Given the description of an element on the screen output the (x, y) to click on. 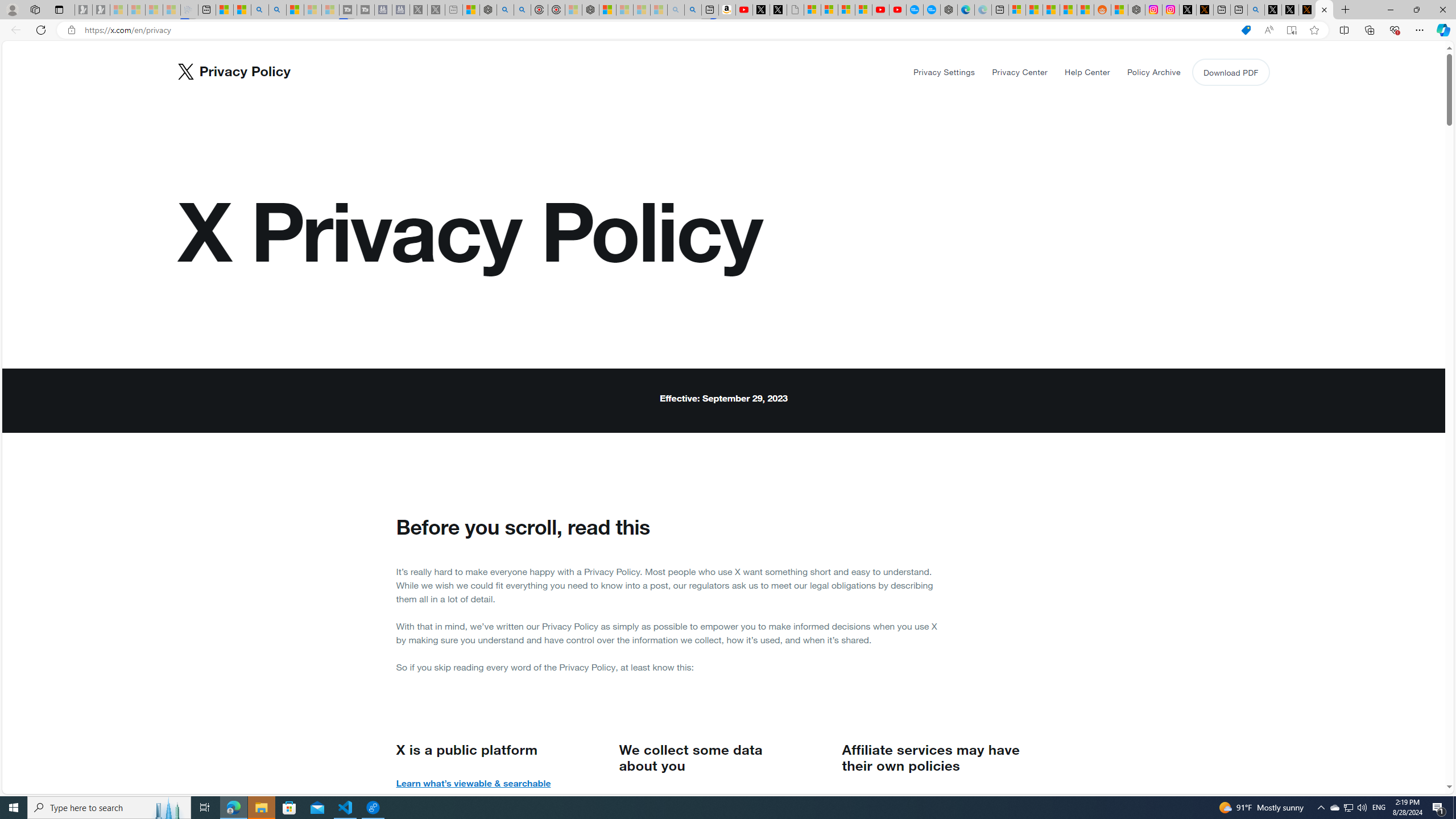
Refresh (40, 29)
Microsoft account | Microsoft Account Privacy Settings (1016, 9)
GitHub (@github) / X (1289, 9)
The most popular Google 'how to' searches (931, 9)
Untitled (794, 9)
Policy Archive (1153, 72)
Day 1: Arriving in Yemen (surreal to be here) - YouTube (743, 9)
Close (1442, 9)
Close tab (1324, 9)
Minimize (1390, 9)
Back (13, 29)
Newsletter Sign Up - Sleeping (101, 9)
Read aloud this page (Ctrl+Shift+U) (1268, 29)
Wildlife - MSN (470, 9)
